Given the description of an element on the screen output the (x, y) to click on. 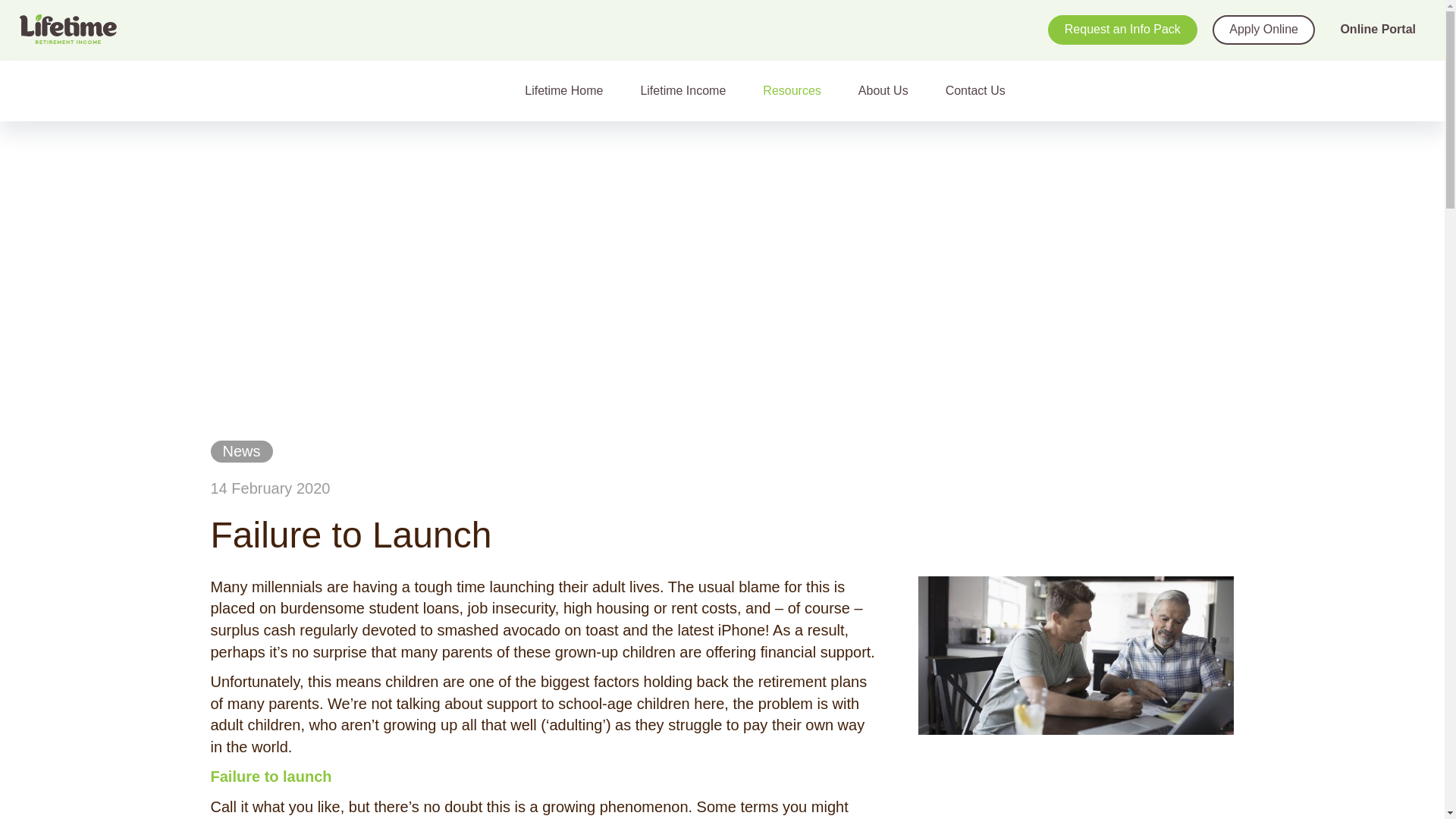
Lifetime Home (569, 90)
Request an Info Pack (1122, 30)
Lifetime Home (569, 90)
Lifetime Income (689, 90)
Contact Us (980, 90)
Apply Online (1263, 30)
Contact Us (980, 90)
About Us (890, 90)
About Us (890, 90)
Resources (797, 90)
Lifetime Income (689, 90)
Online Portal (1377, 29)
Resources (797, 90)
